Given the description of an element on the screen output the (x, y) to click on. 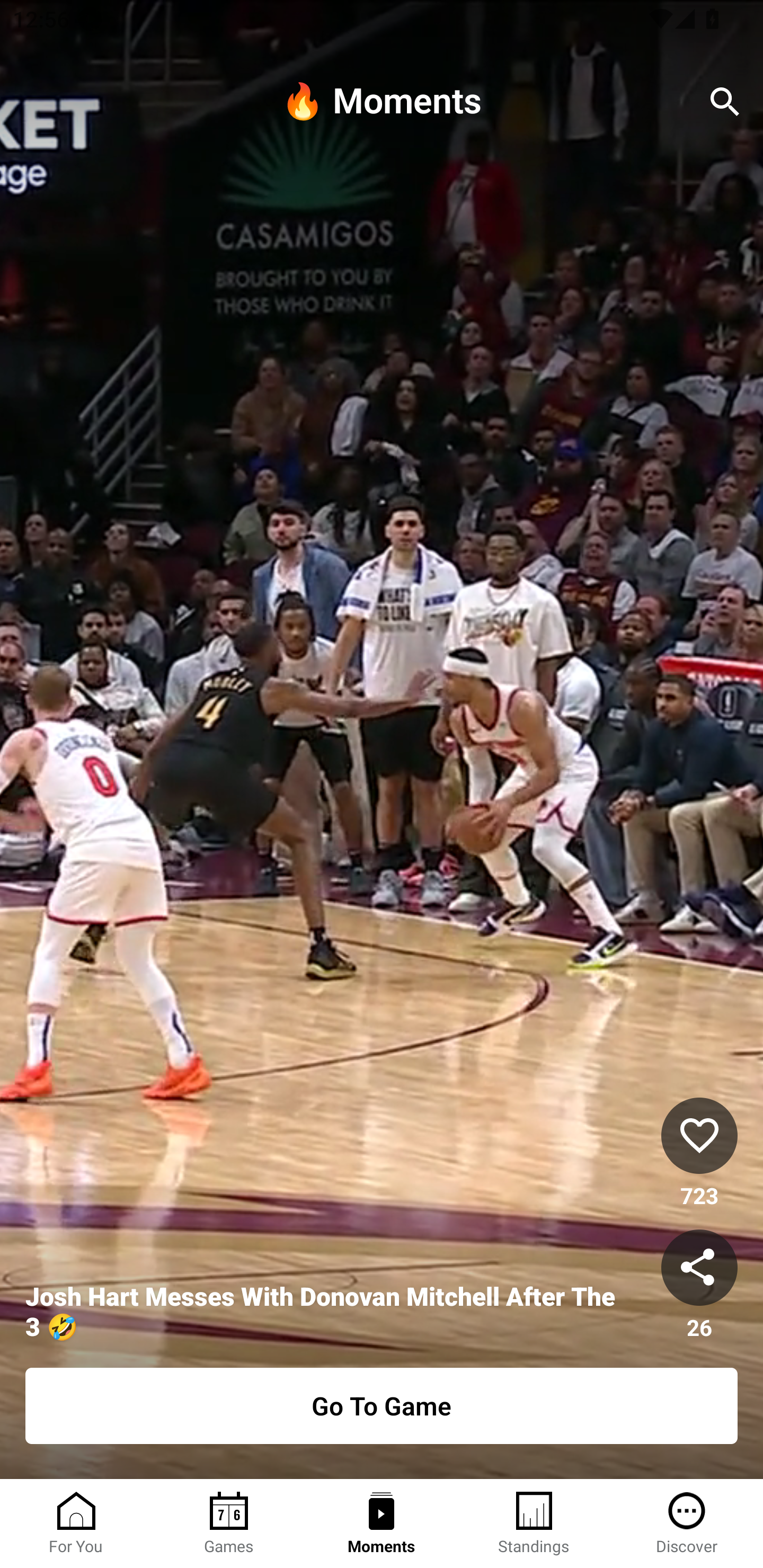
search (724, 101)
like 723 723 Likes (699, 1153)
share 26 26 Shares (699, 1285)
Go To Game (381, 1405)
For You (76, 1523)
Games (228, 1523)
Standings (533, 1523)
Discover (686, 1523)
